Given the description of an element on the screen output the (x, y) to click on. 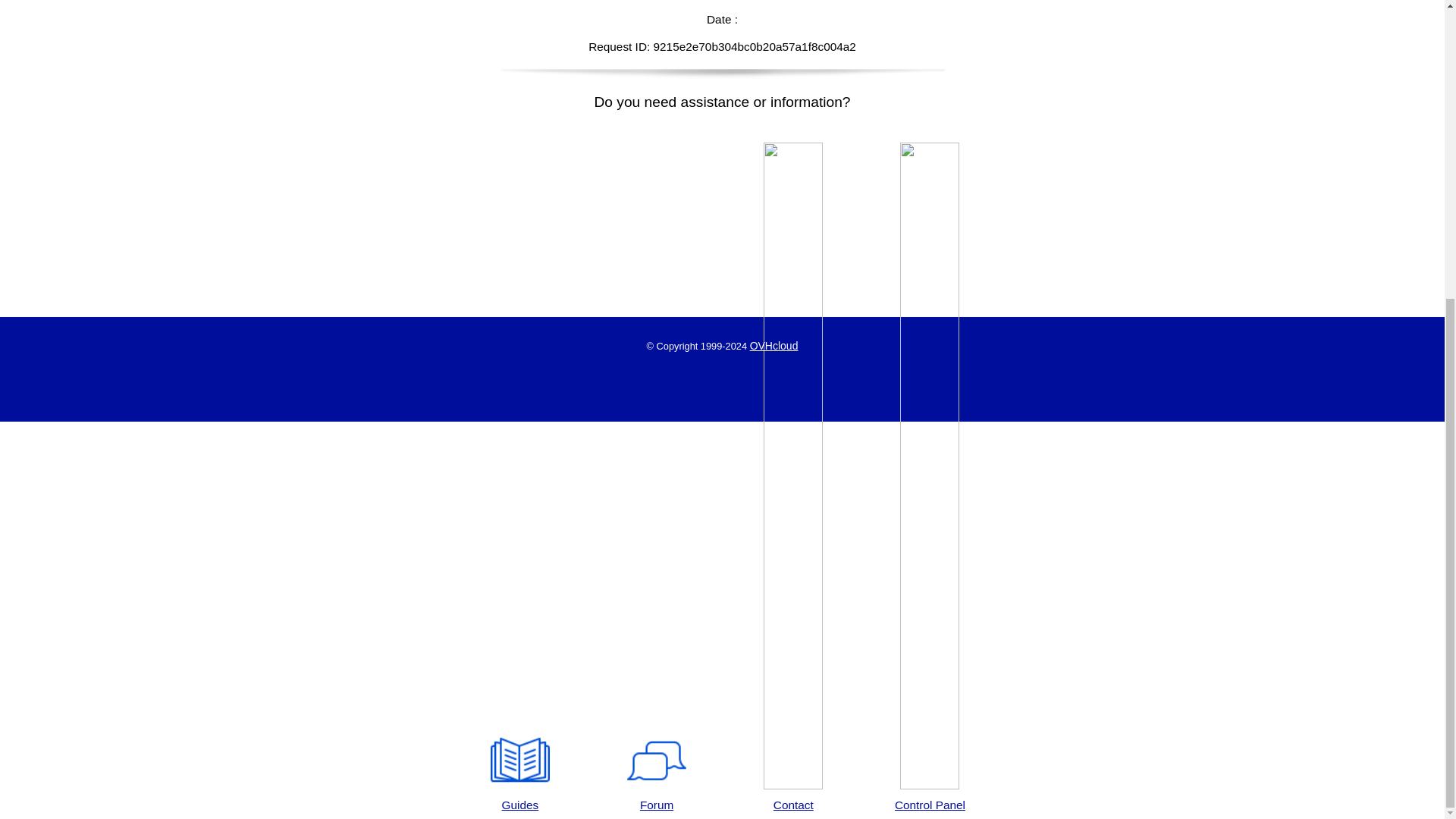
Control Panel (930, 478)
Guides (519, 772)
Forum (656, 772)
Contact (793, 478)
Forum (656, 772)
Guides (519, 772)
Contact (793, 478)
Control Panel (930, 478)
OVHcloud (773, 345)
